Given the description of an element on the screen output the (x, y) to click on. 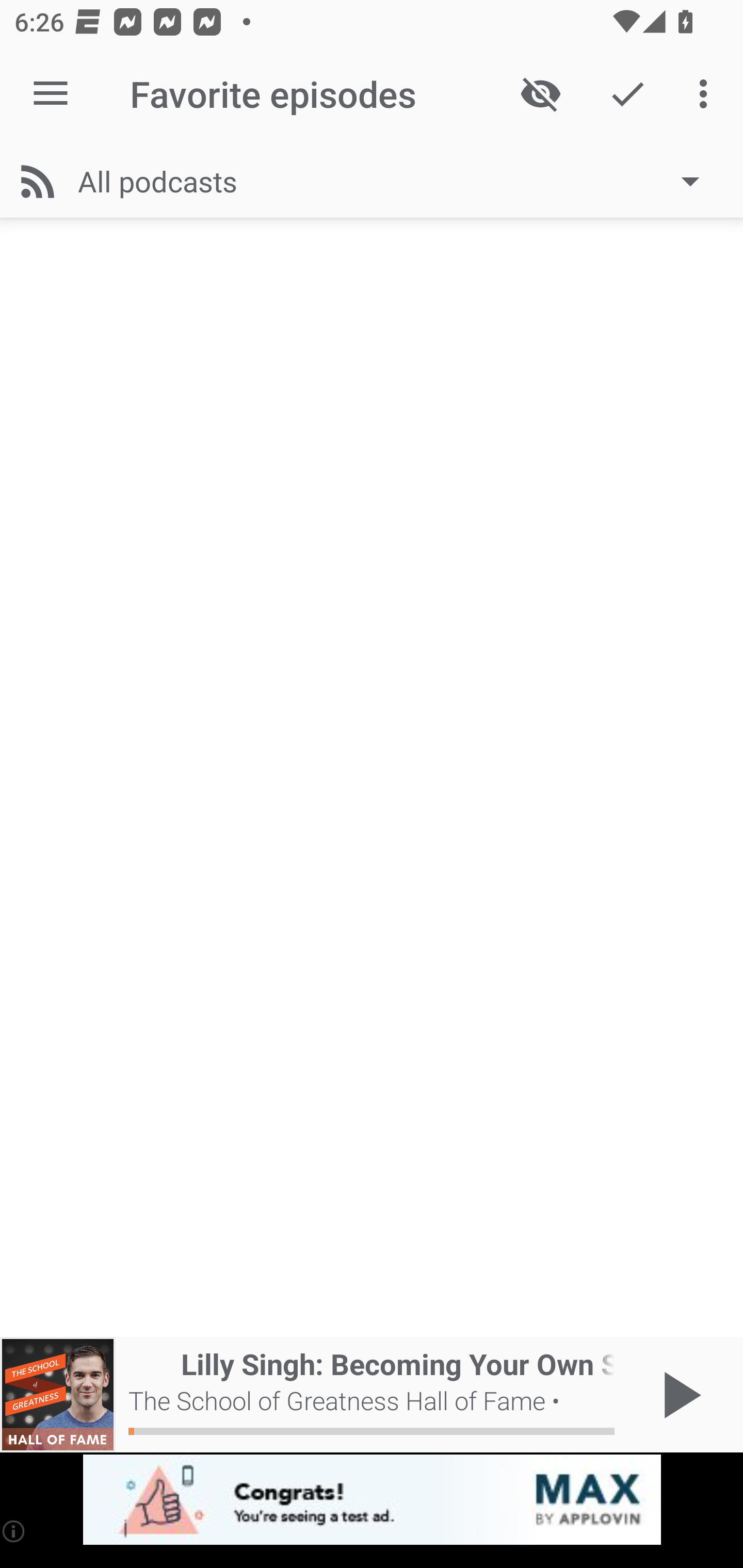
Open navigation sidebar (50, 93)
Show / Hide played content (540, 93)
Action Mode (626, 93)
More options (706, 93)
All podcasts (398, 180)
Play / Pause (677, 1394)
app-monetization (371, 1500)
(i) (14, 1531)
